Given the description of an element on the screen output the (x, y) to click on. 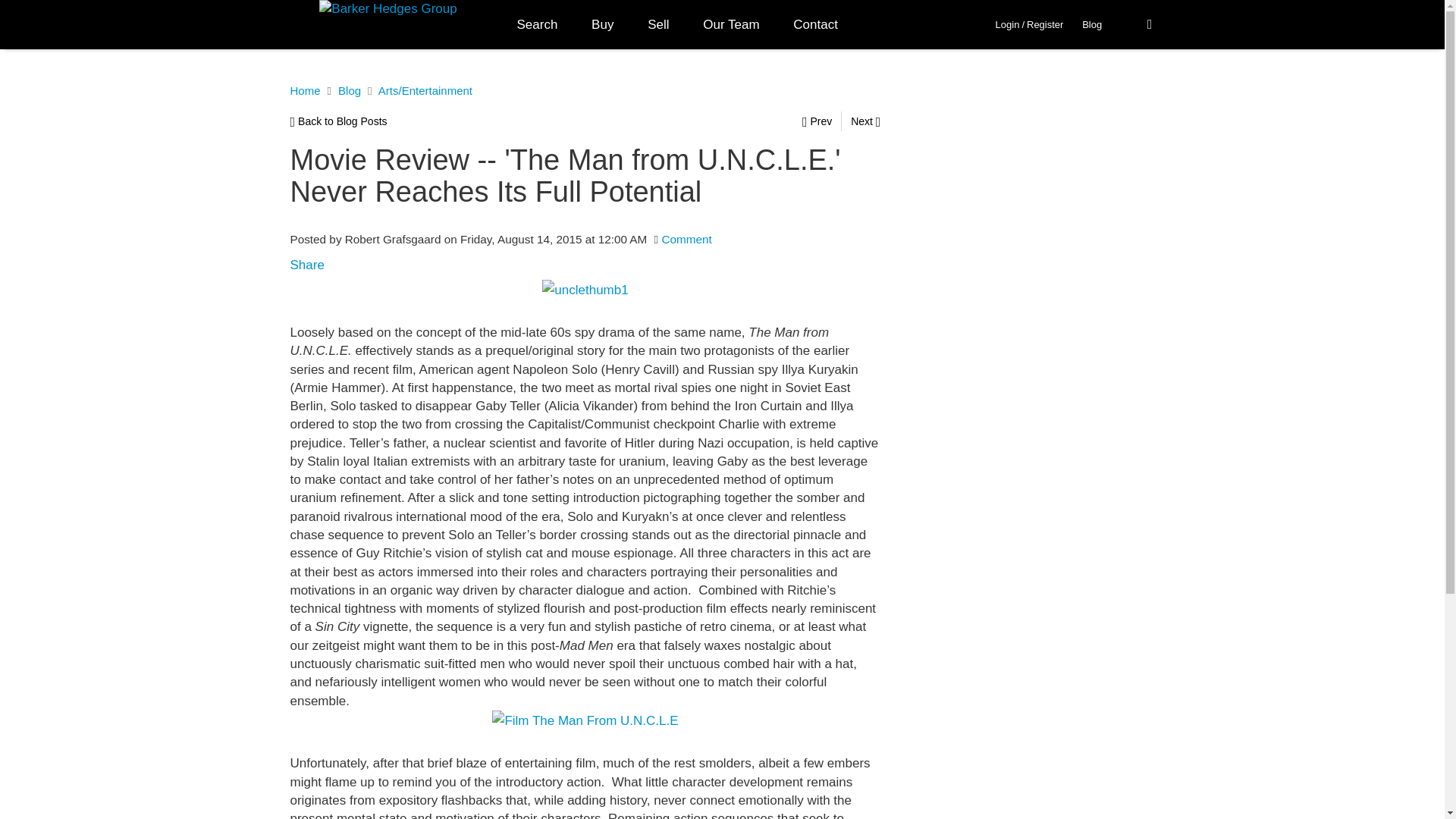
Our Team (730, 24)
Buy (602, 24)
Select Language (1137, 24)
Blog (1091, 24)
Register (1044, 24)
Sell (657, 24)
Search (537, 24)
